Given the description of an element on the screen output the (x, y) to click on. 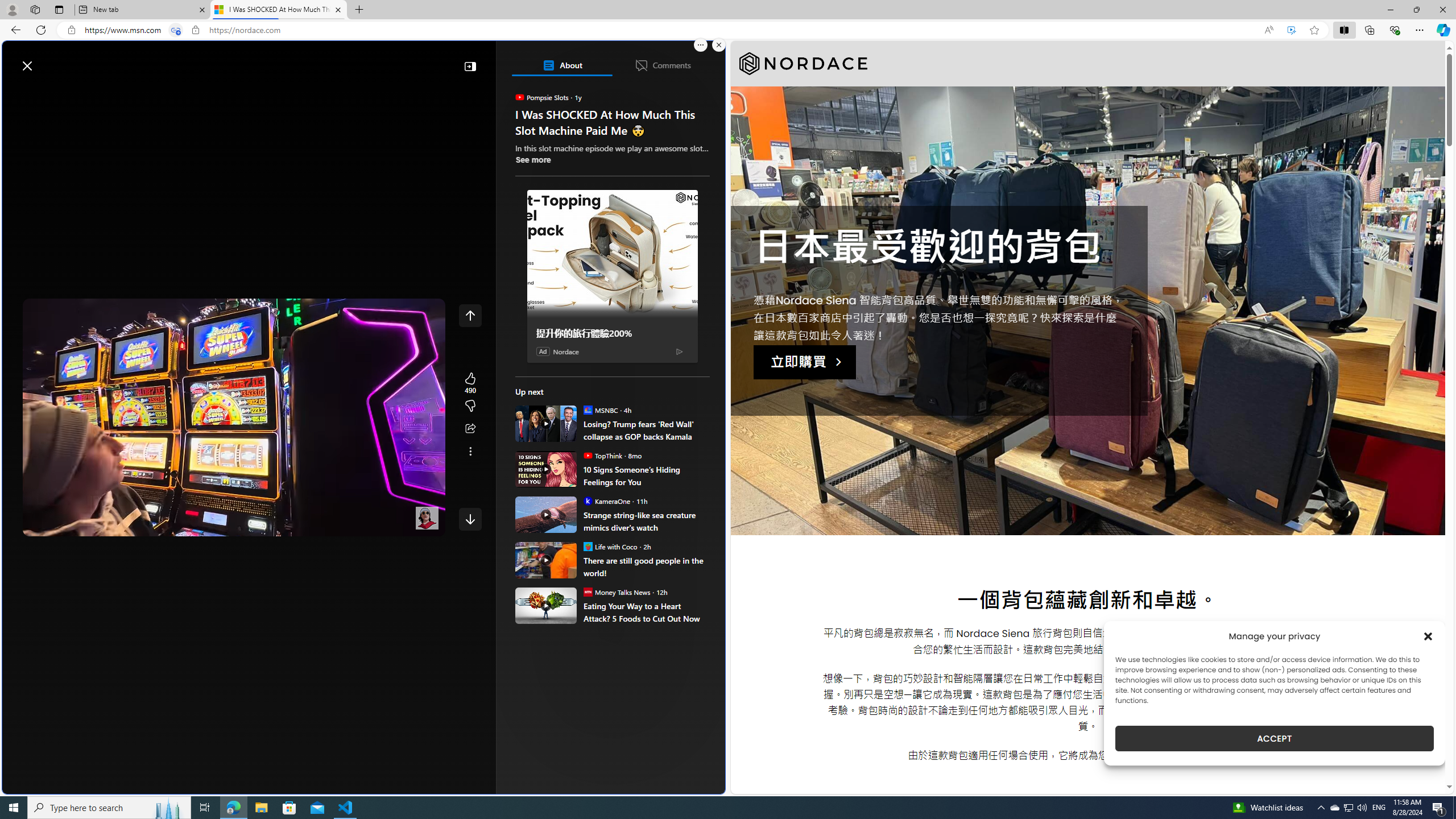
Enhance video (1291, 29)
Pompsie Slots (519, 96)
TopThink (587, 455)
Strange string-like sea creature mimics diver's watch (545, 514)
Eating Your Way to a Heart Attack? 5 Foods to Cut Out Now (545, 605)
ACCEPT (1274, 738)
Personalize (679, 92)
Life with Coco (587, 546)
